Given the description of an element on the screen output the (x, y) to click on. 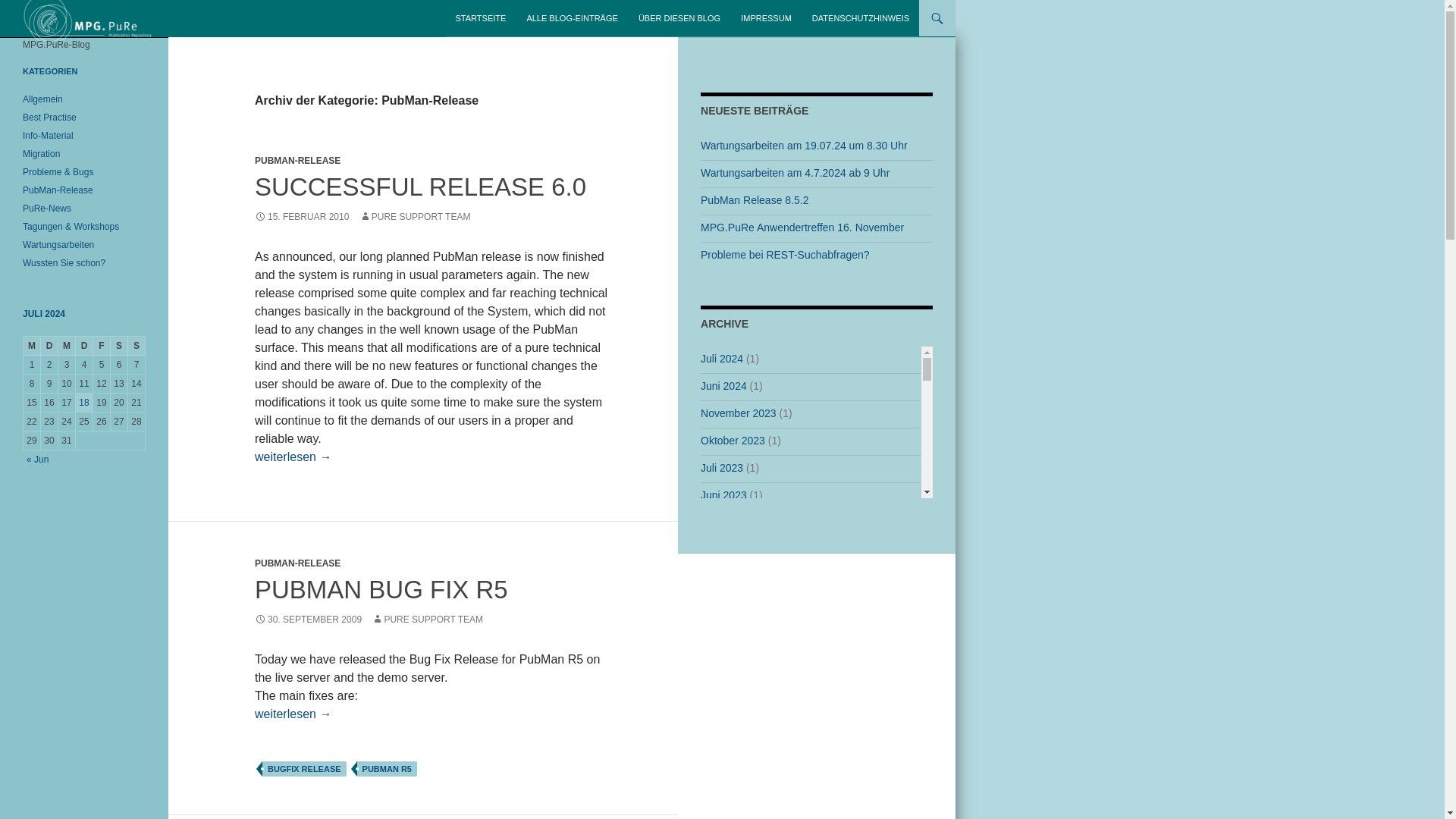
Dienstag (49, 345)
PURE SUPPORT TEAM (427, 619)
PUBMAN BUG FIX R5 (381, 589)
PUBMAN R5 (386, 768)
Samstag (119, 345)
PUBMAN-RELEASE (297, 562)
DATENSCHUTZHINWEIS (860, 18)
15. FEBRUAR 2010 (301, 216)
STARTSEITE (480, 18)
30. SEPTEMBER 2009 (307, 619)
Freitag (101, 345)
Donnerstag (84, 345)
IMPRESSUM (766, 18)
PUBMAN-RELEASE (297, 160)
Montag (31, 345)
